Given the description of an element on the screen output the (x, y) to click on. 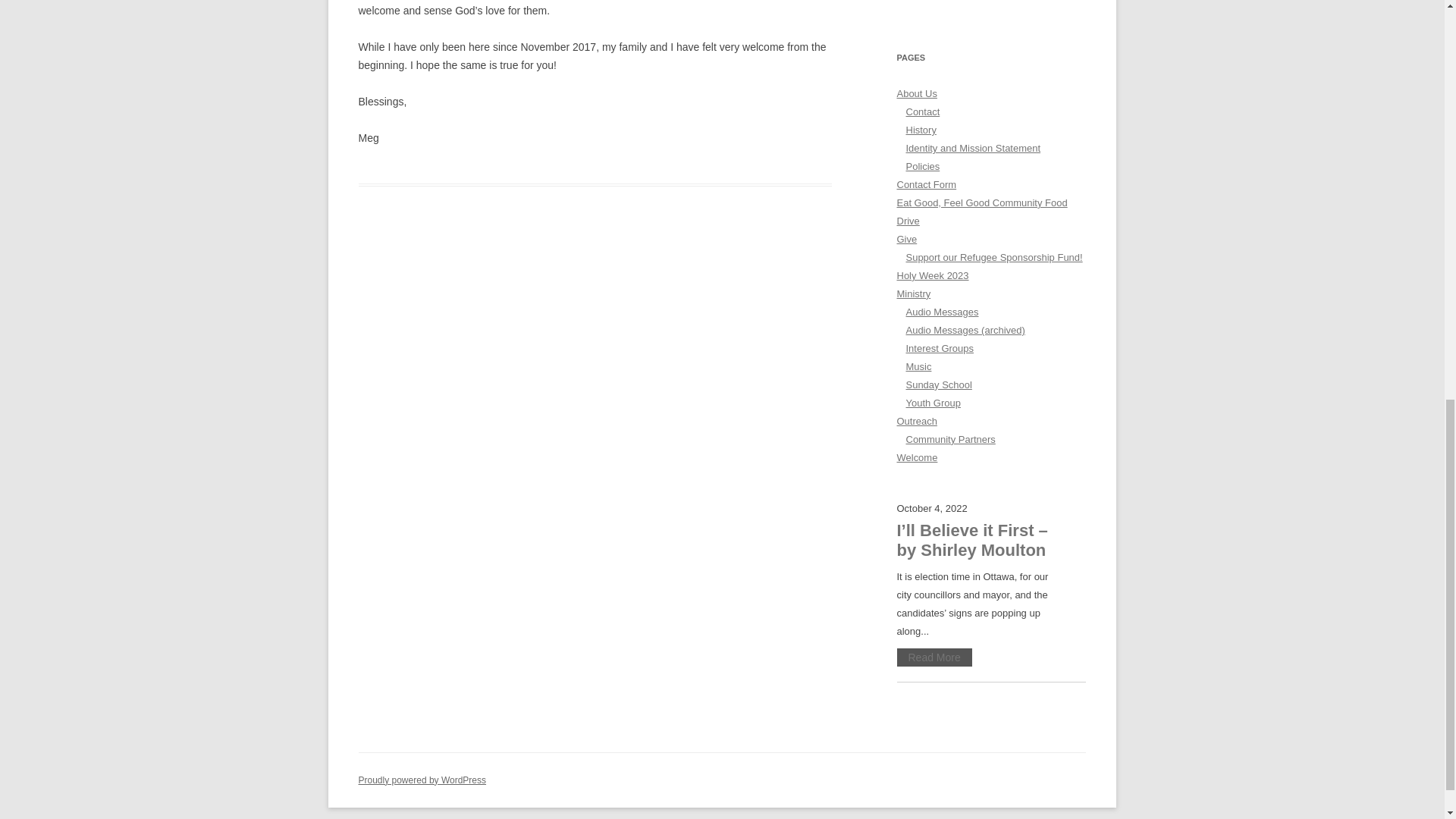
Holy Week 2023 (932, 275)
Support our Refugee Sponsorship Fund! (993, 256)
Contact Form (926, 184)
Policies (922, 165)
Eat Good, Feel Good Community Food Drive (981, 211)
Identity and Mission Statement (973, 147)
Give (906, 238)
Contact (922, 111)
Semantic Personal Publishing Platform (422, 779)
History (920, 129)
